Given the description of an element on the screen output the (x, y) to click on. 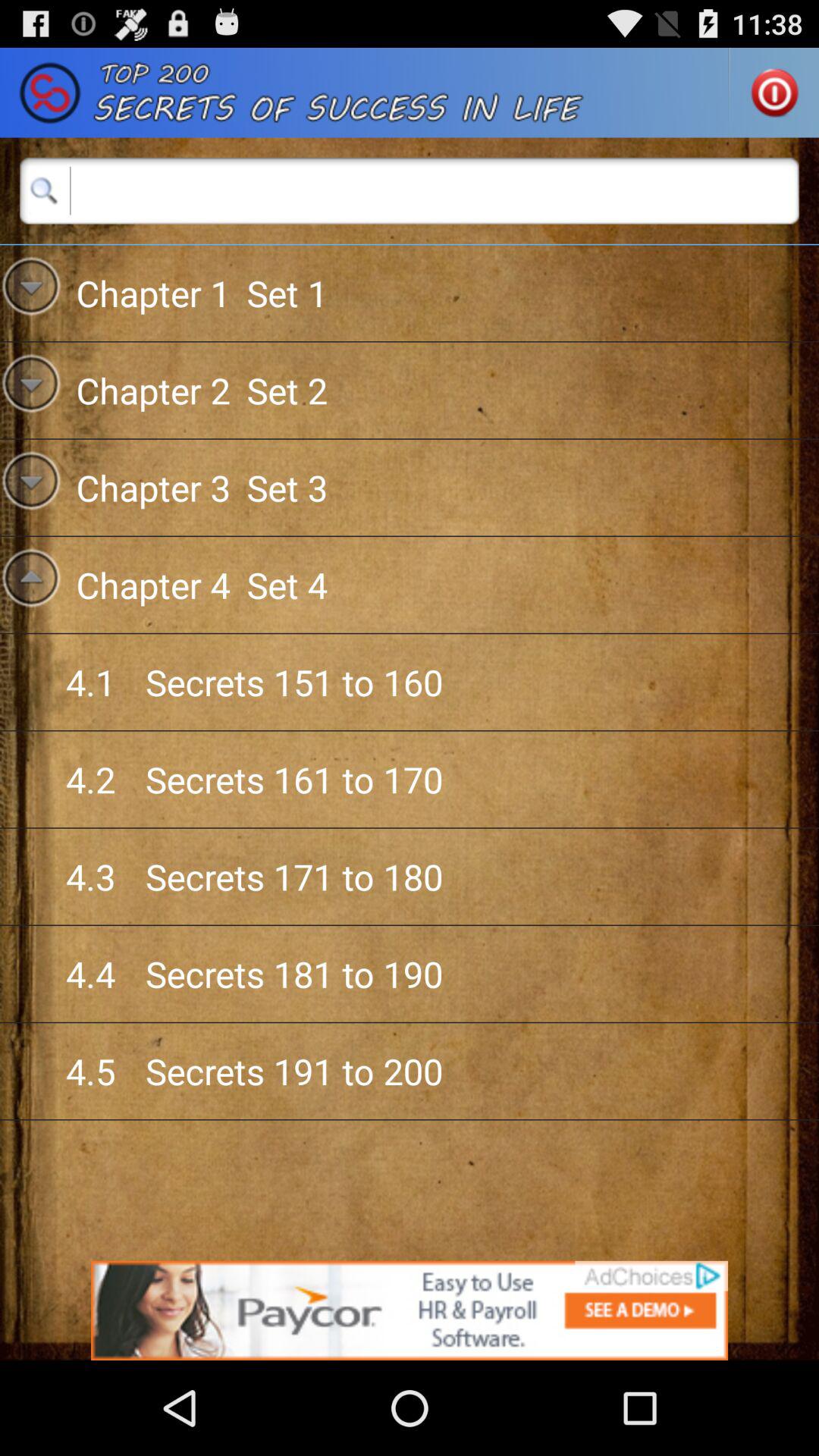
click on icon which is above the text chapter 1 set 1 (44, 190)
